Given the description of an element on the screen output the (x, y) to click on. 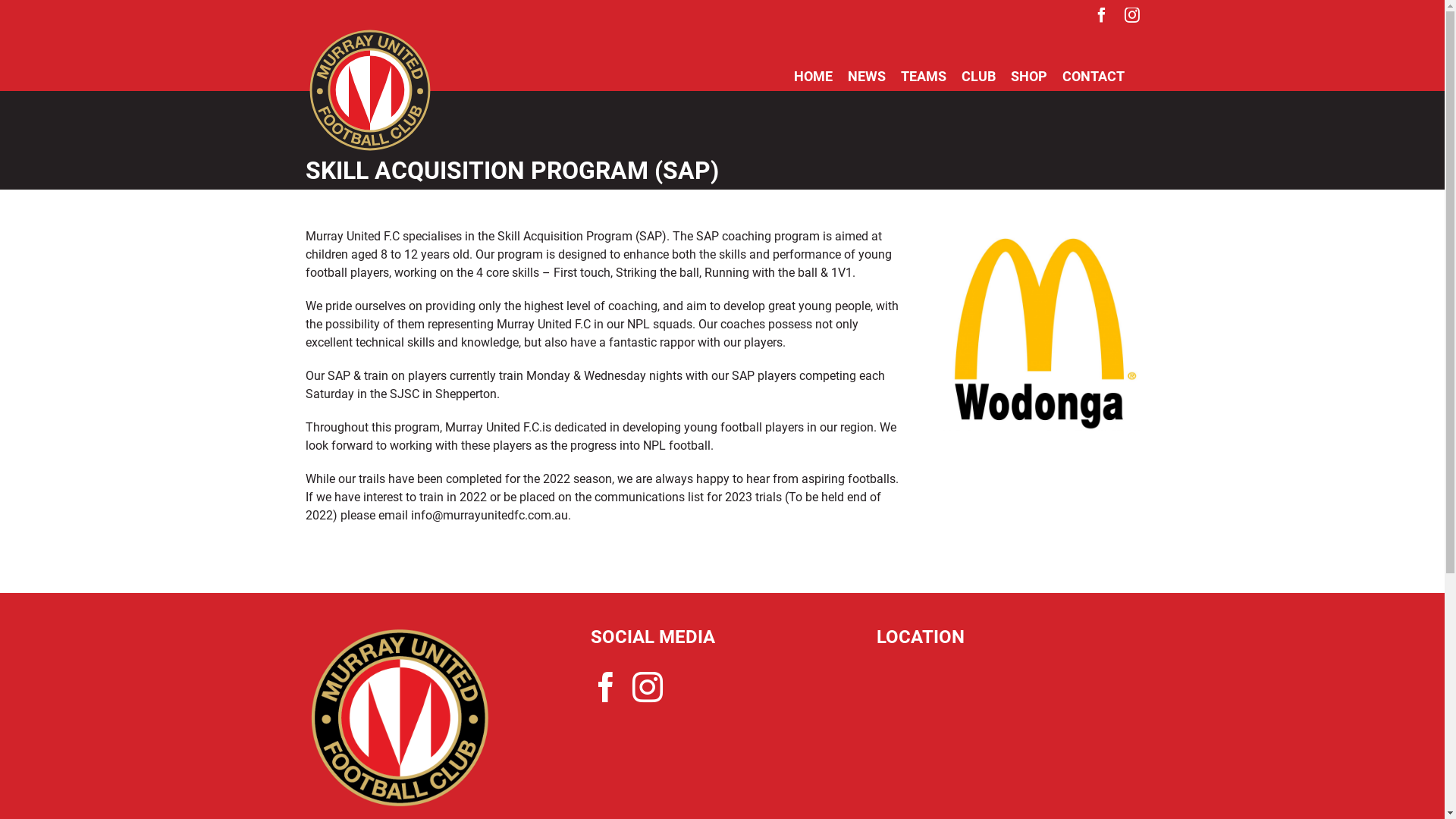
Facebook Element type: hover (605, 686)
Instagram Element type: hover (647, 686)
Facebook Element type: hover (1100, 14)
TEAMS Element type: text (923, 80)
info@murrayunitedfc.com.au Element type: text (489, 515)
HOME Element type: text (812, 80)
SHOP Element type: text (1028, 80)
McDonalds Wodonga white bg logo Element type: hover (1038, 328)
NEWS Element type: text (866, 80)
Instagram Element type: hover (1131, 14)
CONTACT Element type: text (1092, 80)
CLUB Element type: text (978, 80)
